Given the description of an element on the screen output the (x, y) to click on. 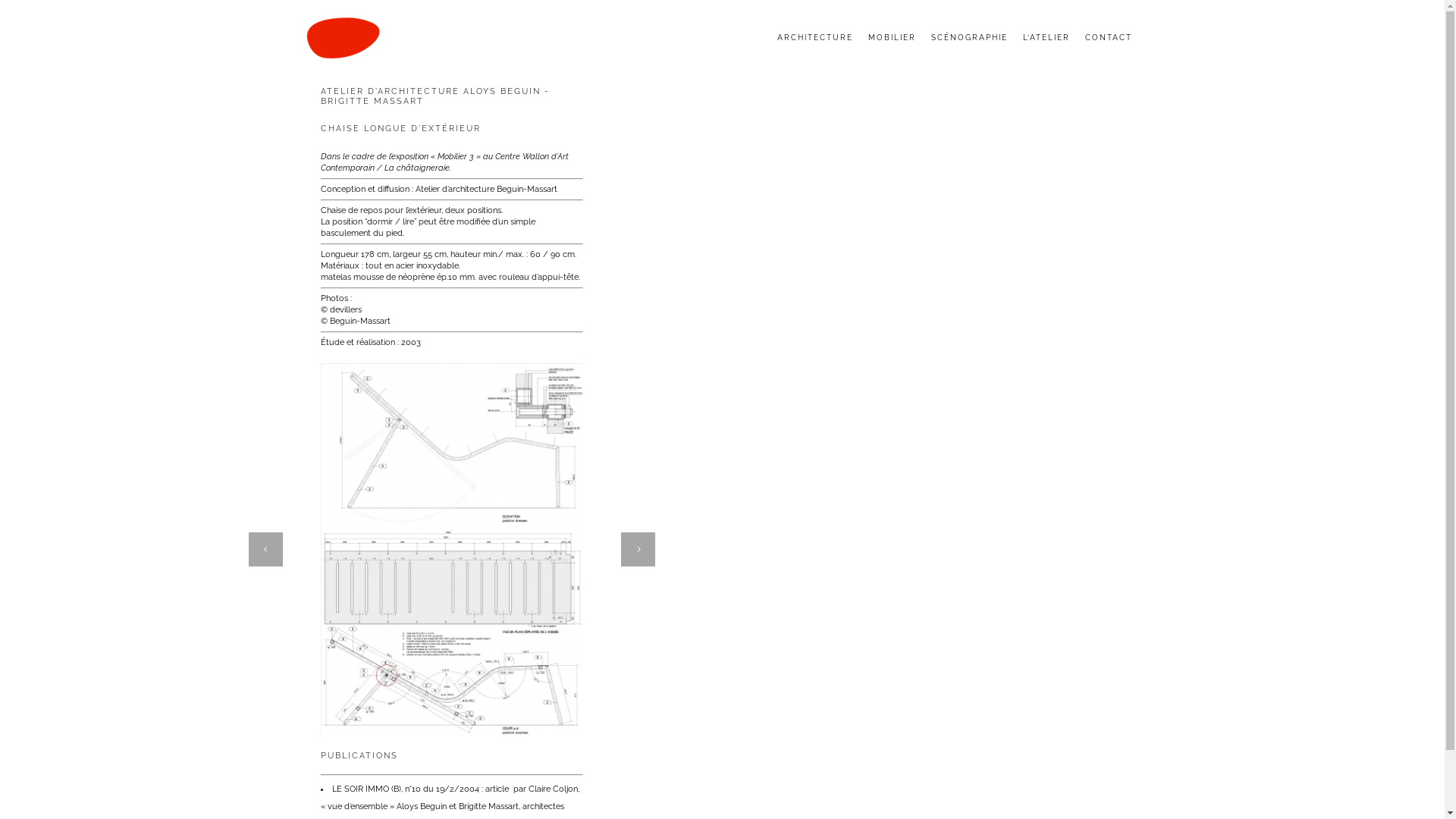
MOBILIER Element type: text (890, 37)
ARCHITECTURE Element type: text (813, 37)
CONTACT Element type: text (1107, 37)
